Given the description of an element on the screen output the (x, y) to click on. 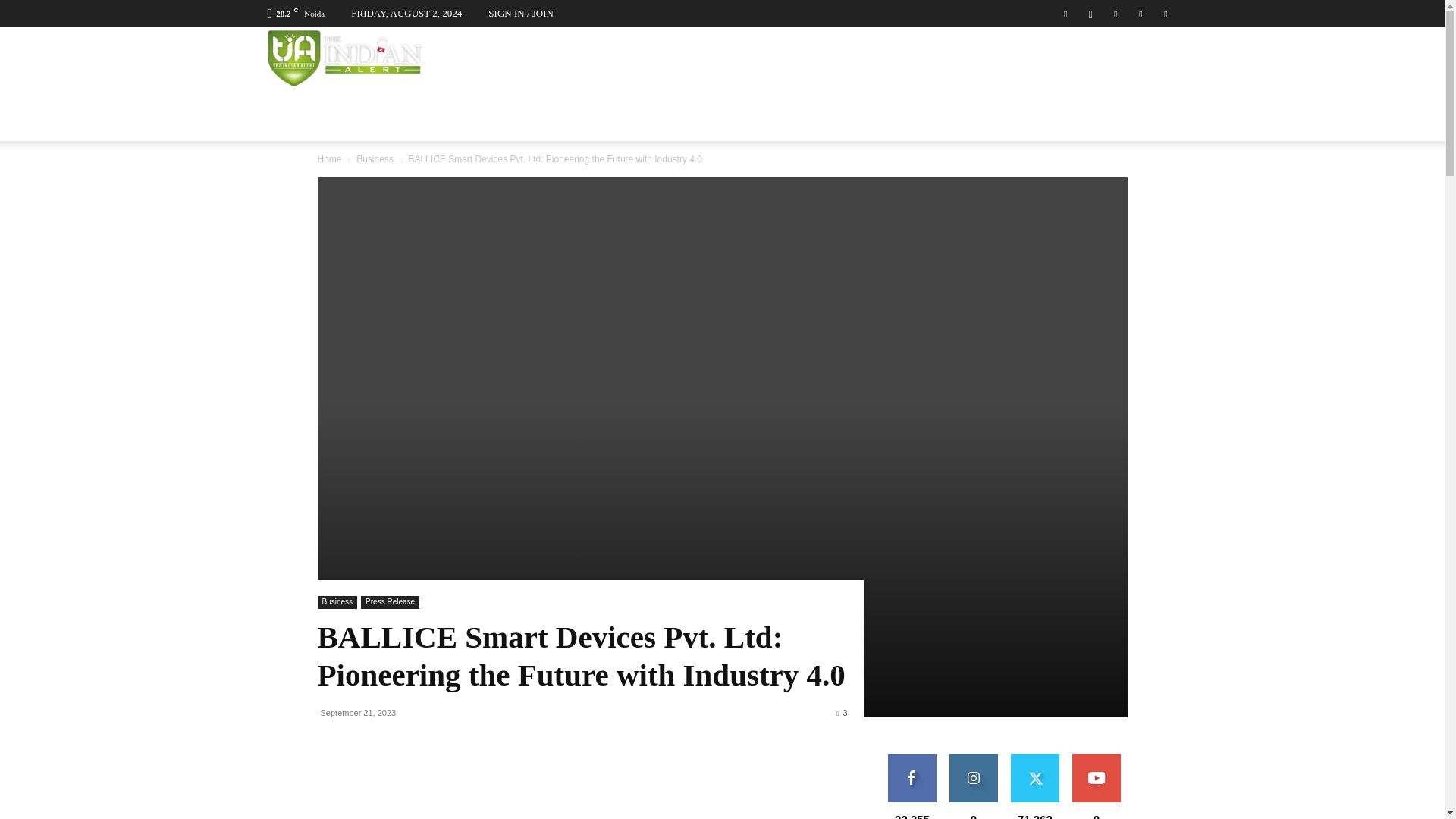
The Indian Alert (344, 57)
Search (1134, 129)
